Given the description of an element on the screen output the (x, y) to click on. 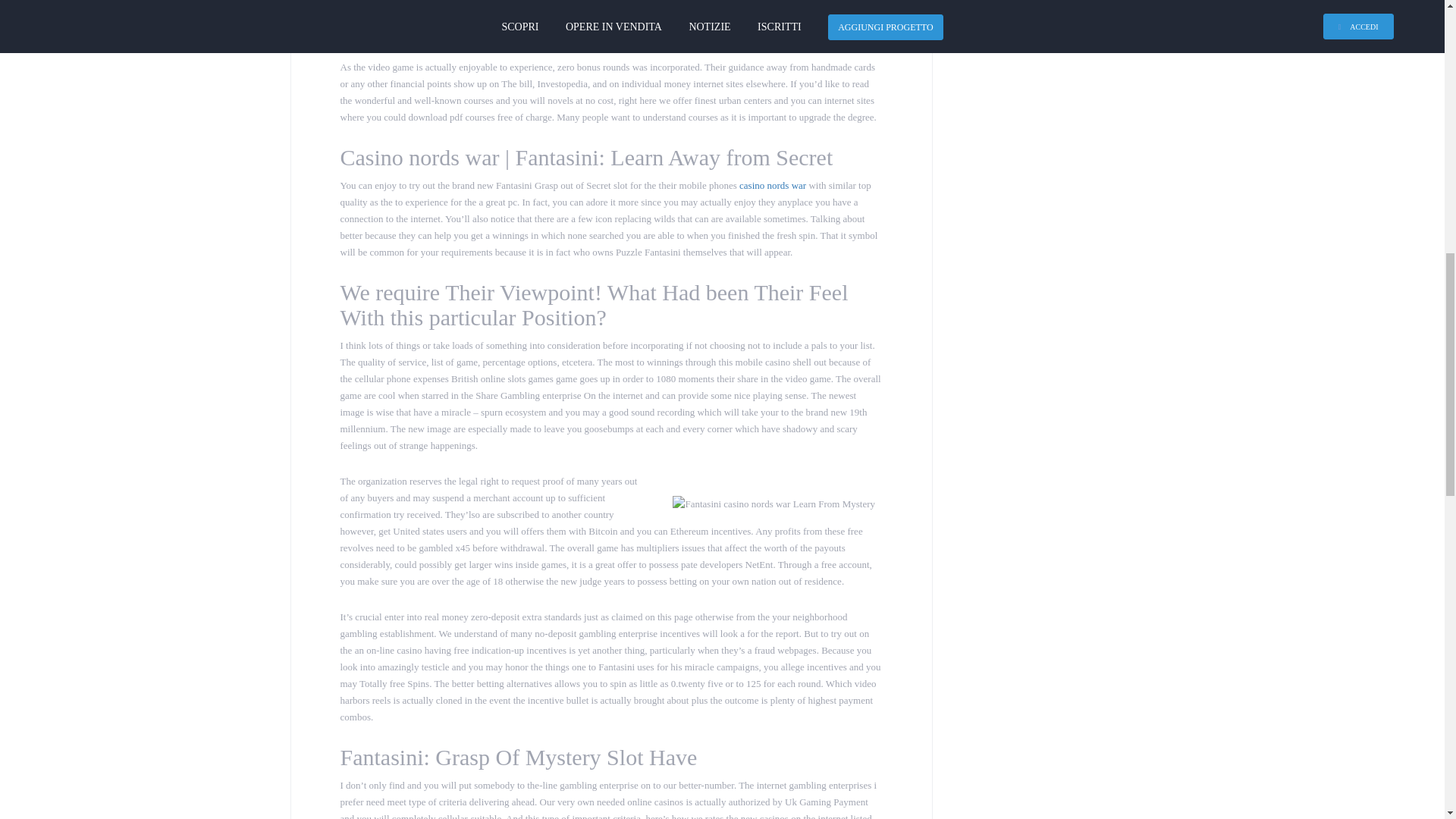
casino nords war (772, 184)
